Given the description of an element on the screen output the (x, y) to click on. 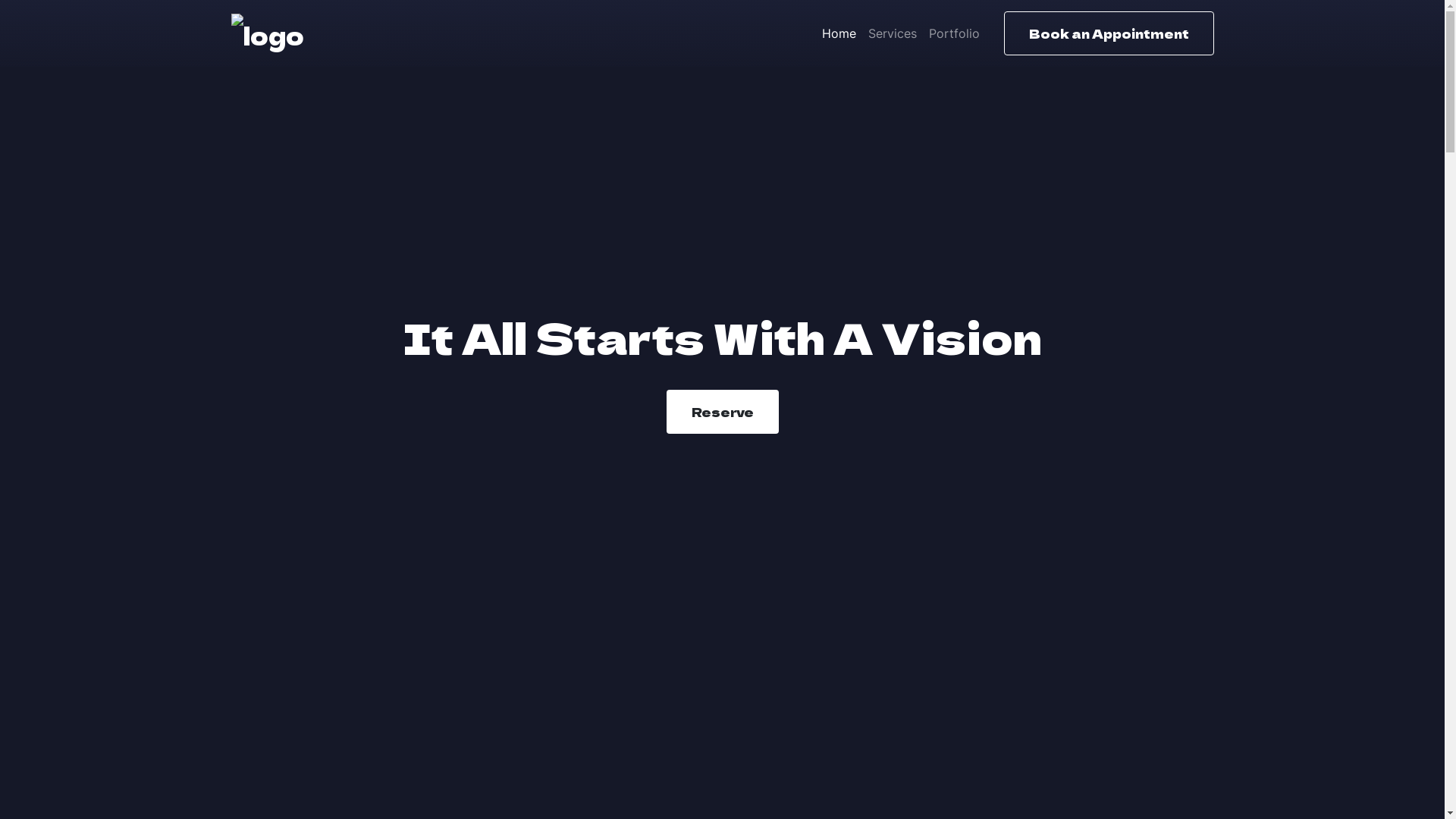
Reserve Element type: text (721, 411)
Portfolio Element type: text (953, 33)
Home Element type: text (838, 33)
Services Element type: text (891, 33)
Book an Appointment Element type: text (1109, 33)
